Given the description of an element on the screen output the (x, y) to click on. 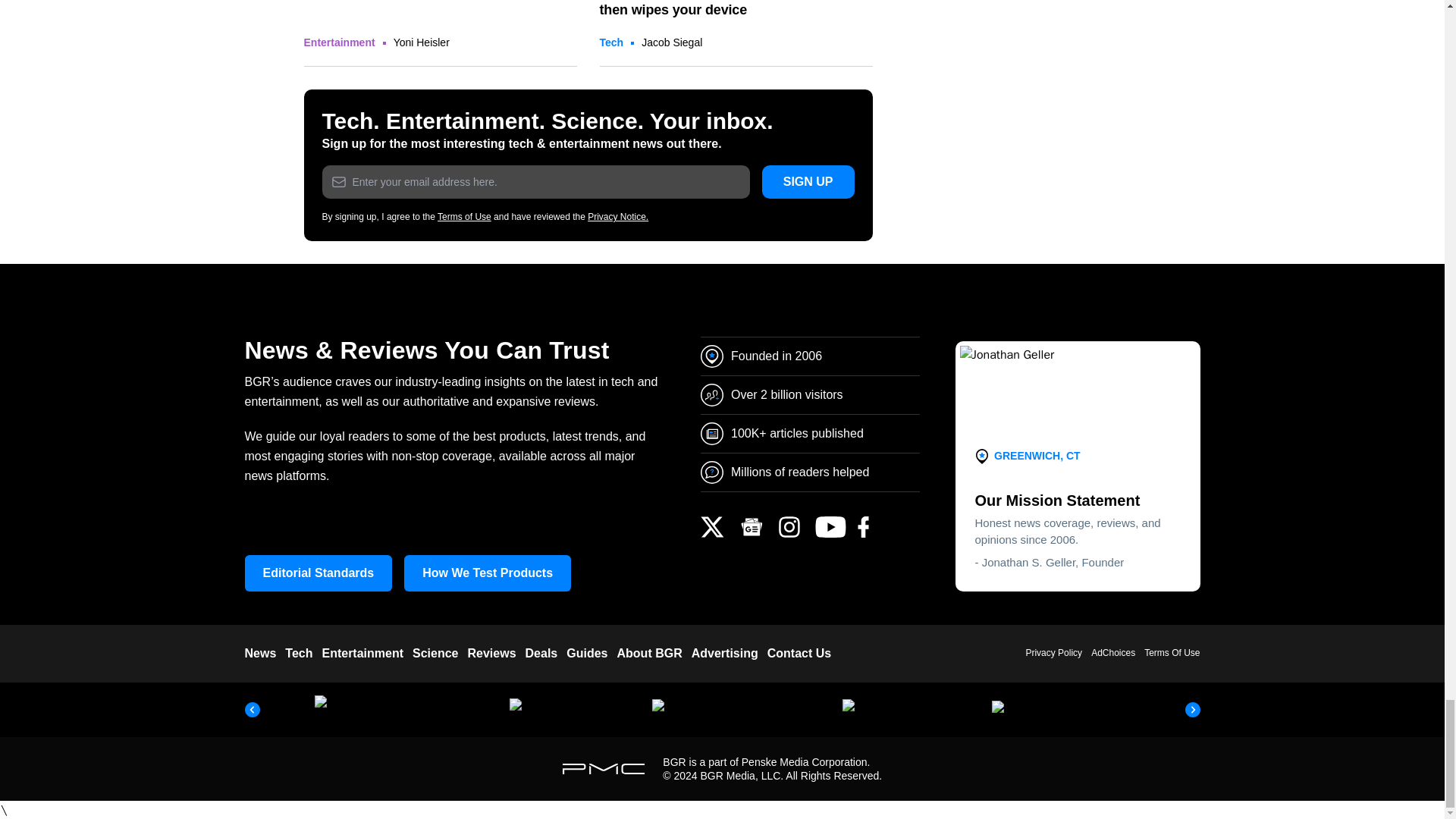
Posts by Jacob Siegal (671, 42)
Posts by Yoni Heisler (421, 42)
